Given the description of an element on the screen output the (x, y) to click on. 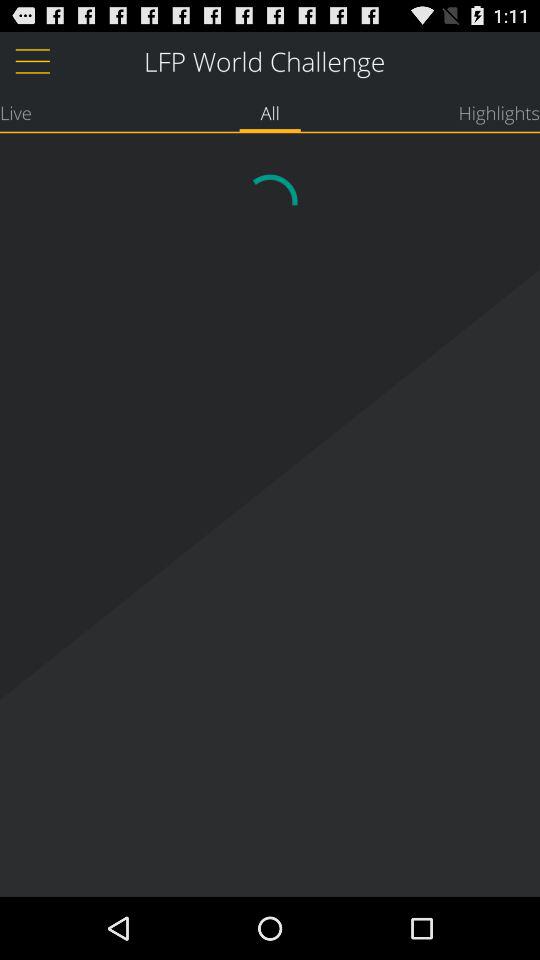
turn off the icon next to all icon (15, 112)
